Given the description of an element on the screen output the (x, y) to click on. 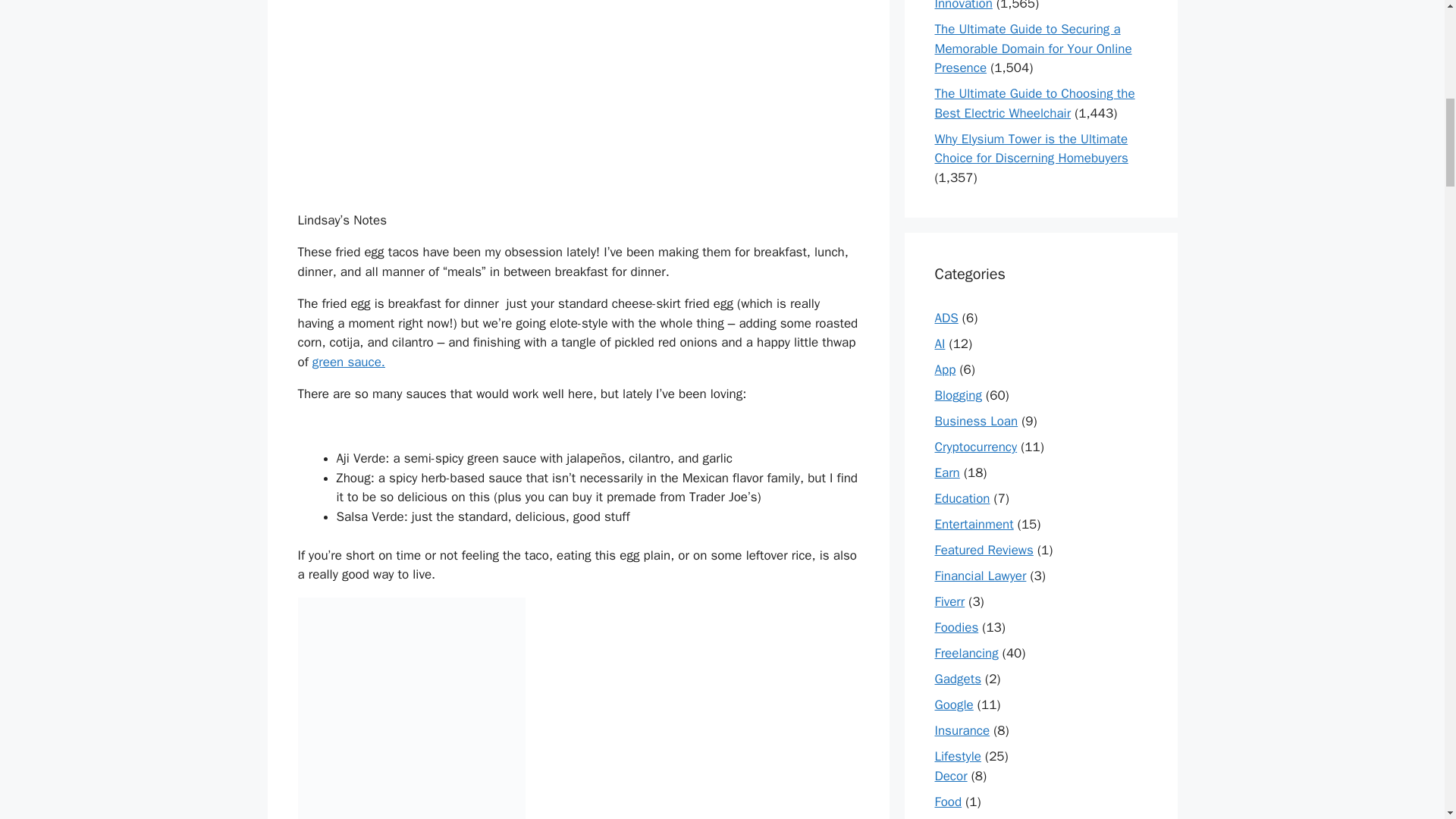
green sauce. (349, 361)
Business Loan (975, 421)
Blogging (957, 395)
Cryptocurrency (975, 446)
AI (939, 343)
Education (962, 498)
The Ultimate Guide to Choosing the Best Electric Wheelchair (1034, 103)
Entertainment (973, 524)
App (944, 369)
Earn (946, 472)
ADS (946, 317)
